Given the description of an element on the screen output the (x, y) to click on. 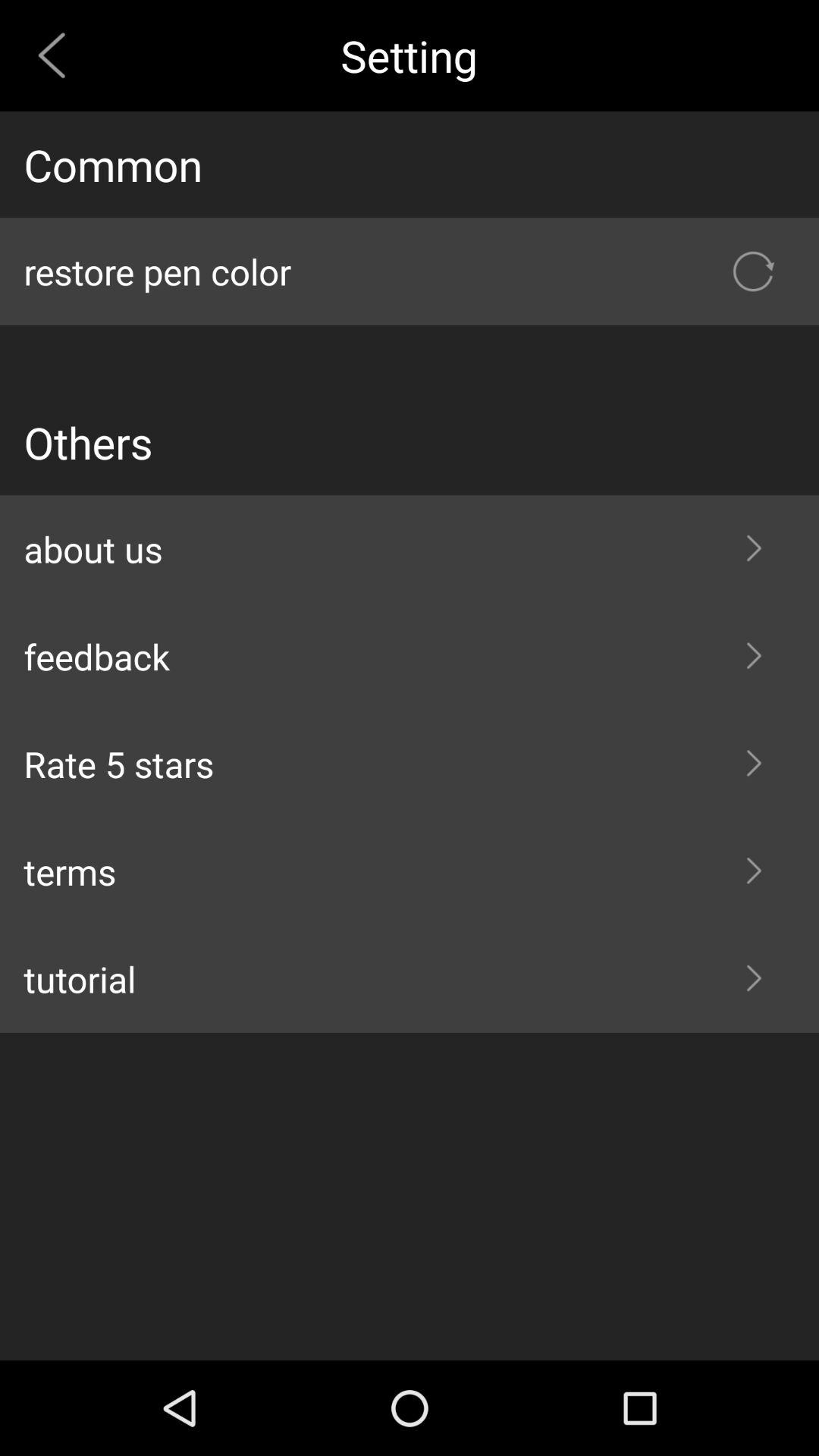
select the item above the tutorial item (409, 871)
